Given the description of an element on the screen output the (x, y) to click on. 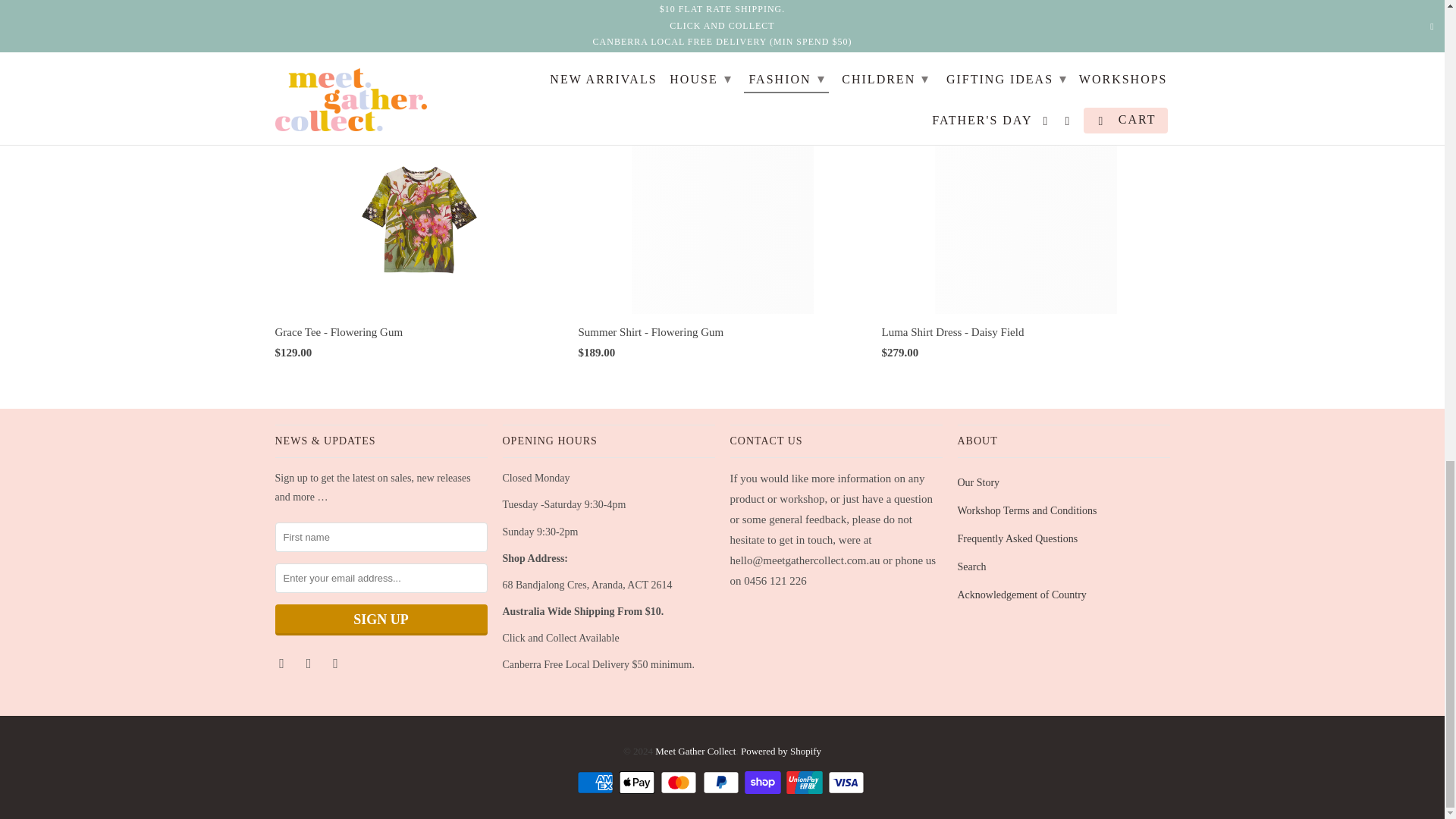
Share this on Facebook (857, 23)
Share this on Twitter (830, 23)
Email this to a friend (938, 23)
Share this on Pinterest (884, 23)
Sign Up (380, 619)
